Given the description of an element on the screen output the (x, y) to click on. 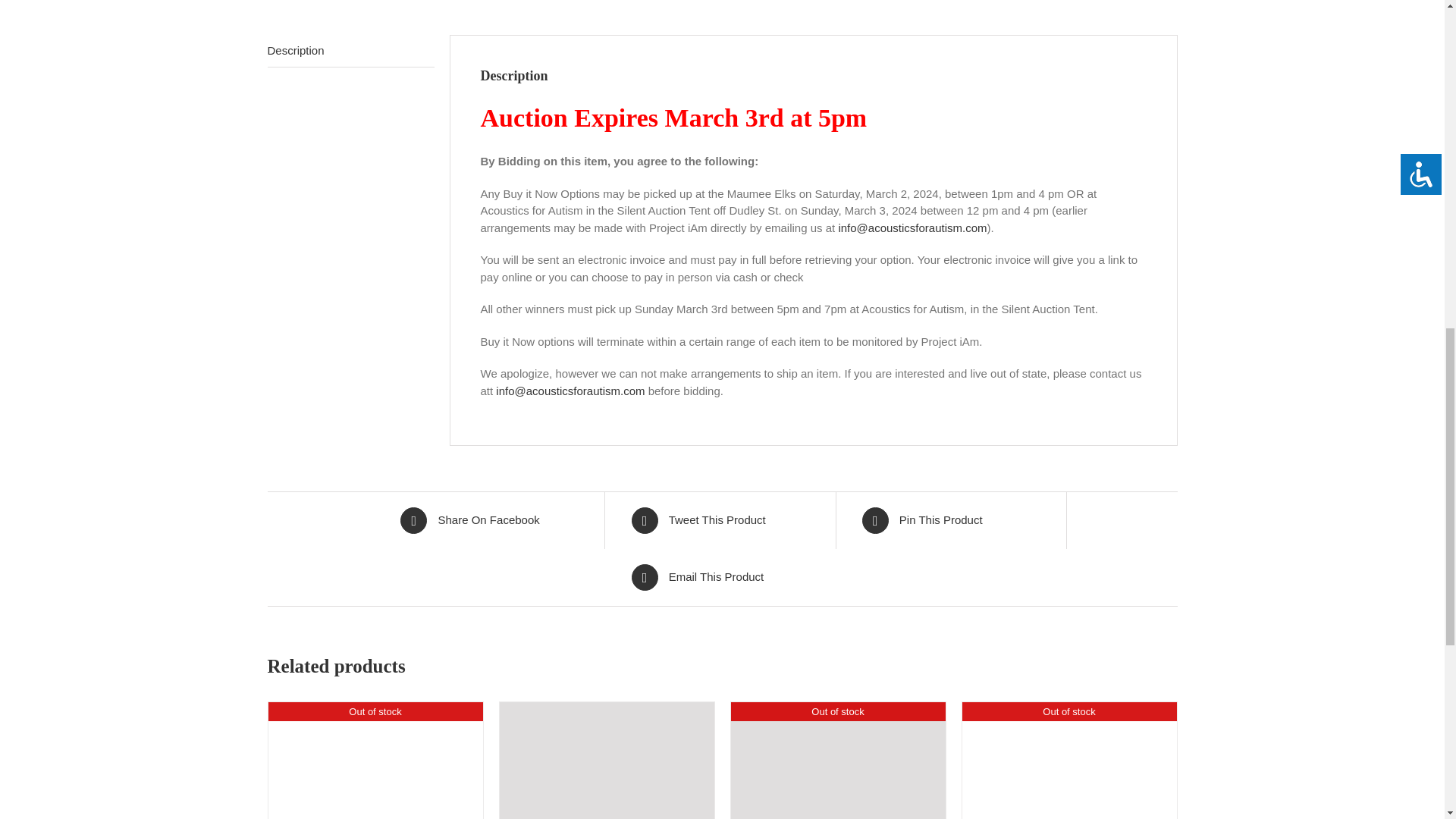
Out of stock (375, 758)
Email This Product (721, 577)
Share On Facebook (490, 519)
Pin This Product (952, 519)
Tweet This Product (721, 519)
Description (349, 51)
